Given the description of an element on the screen output the (x, y) to click on. 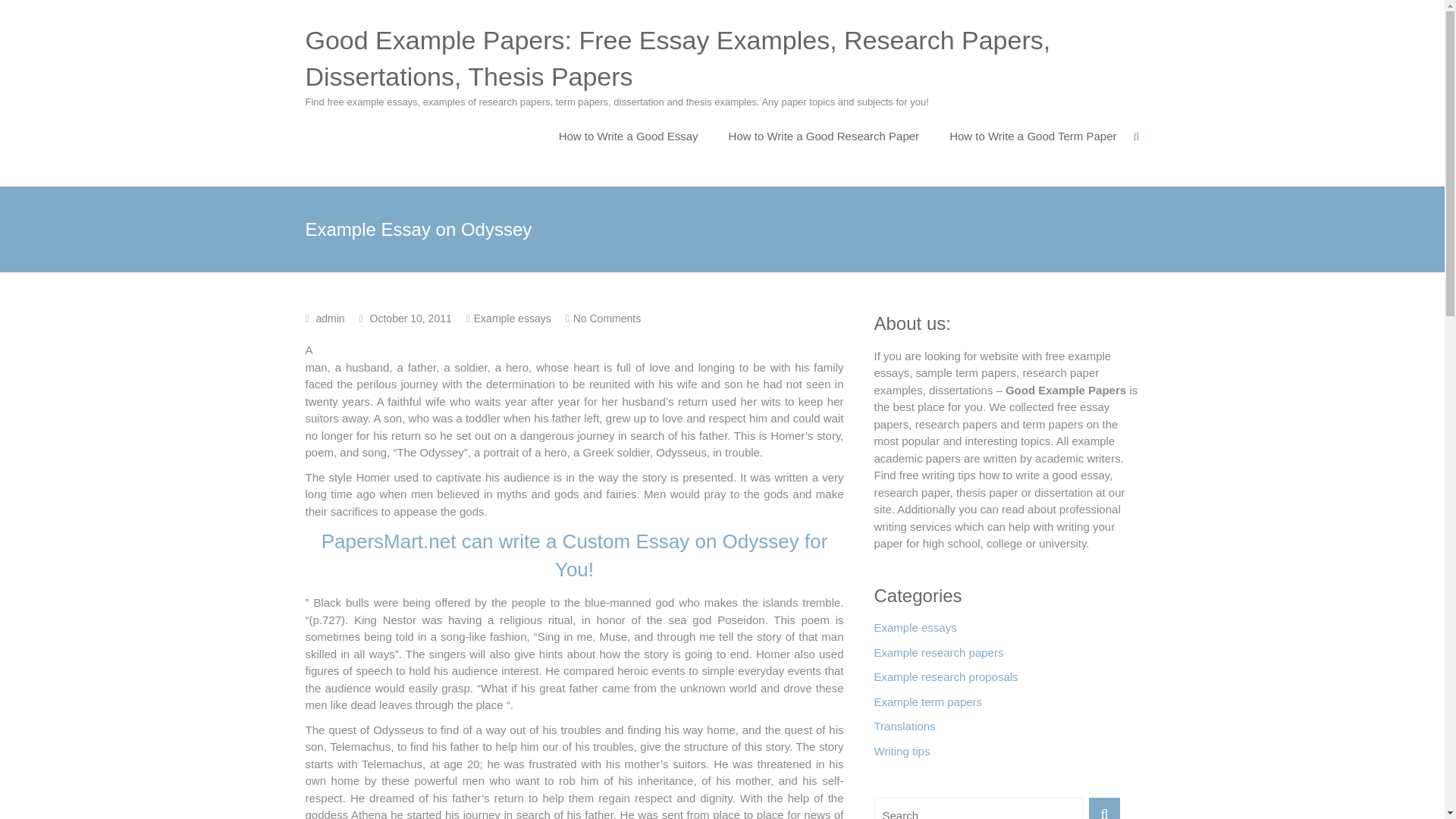
Writing tips (901, 755)
Example essays (512, 318)
7:28 am (410, 318)
How to Write a Good Research Paper (824, 135)
How to Write a Good Term Paper (1032, 135)
Example research papers (938, 656)
admin (330, 318)
October 10, 2011 (410, 318)
PapersMart.net can write a Custom Essay on Odyssey for You! (574, 554)
Example research proposals (945, 681)
